Given the description of an element on the screen output the (x, y) to click on. 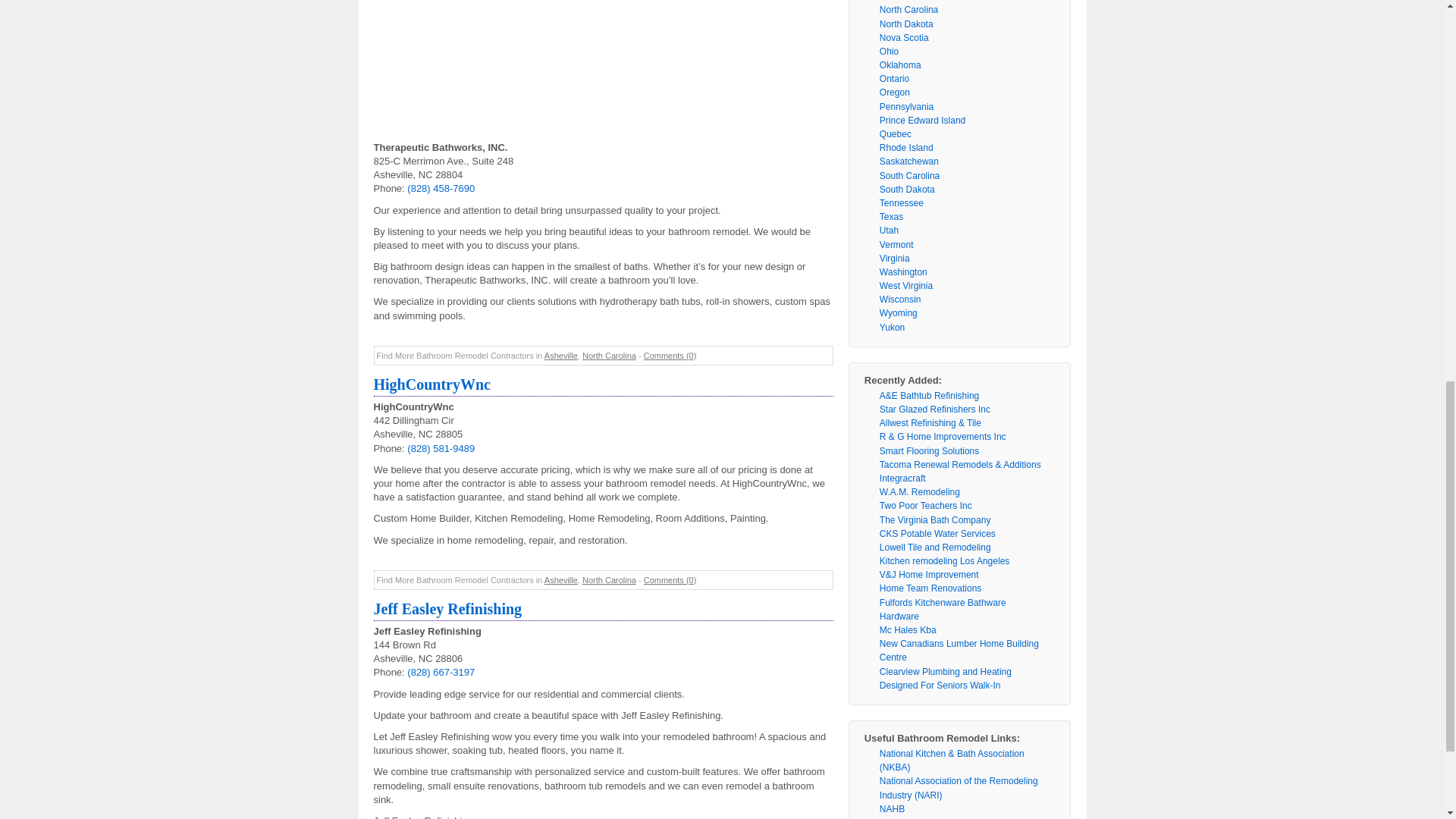
HighCountryWnc (430, 384)
HighCountryWnc - Bathroom Remodel (430, 384)
Asheville (561, 355)
Asheville (561, 579)
Jeff Easley Refinishing - Bathroom Remodel (446, 608)
North Carolina (609, 579)
Advertisement (602, 70)
Jeff Easley Refinishing (446, 608)
North Carolina (609, 355)
